Given the description of an element on the screen output the (x, y) to click on. 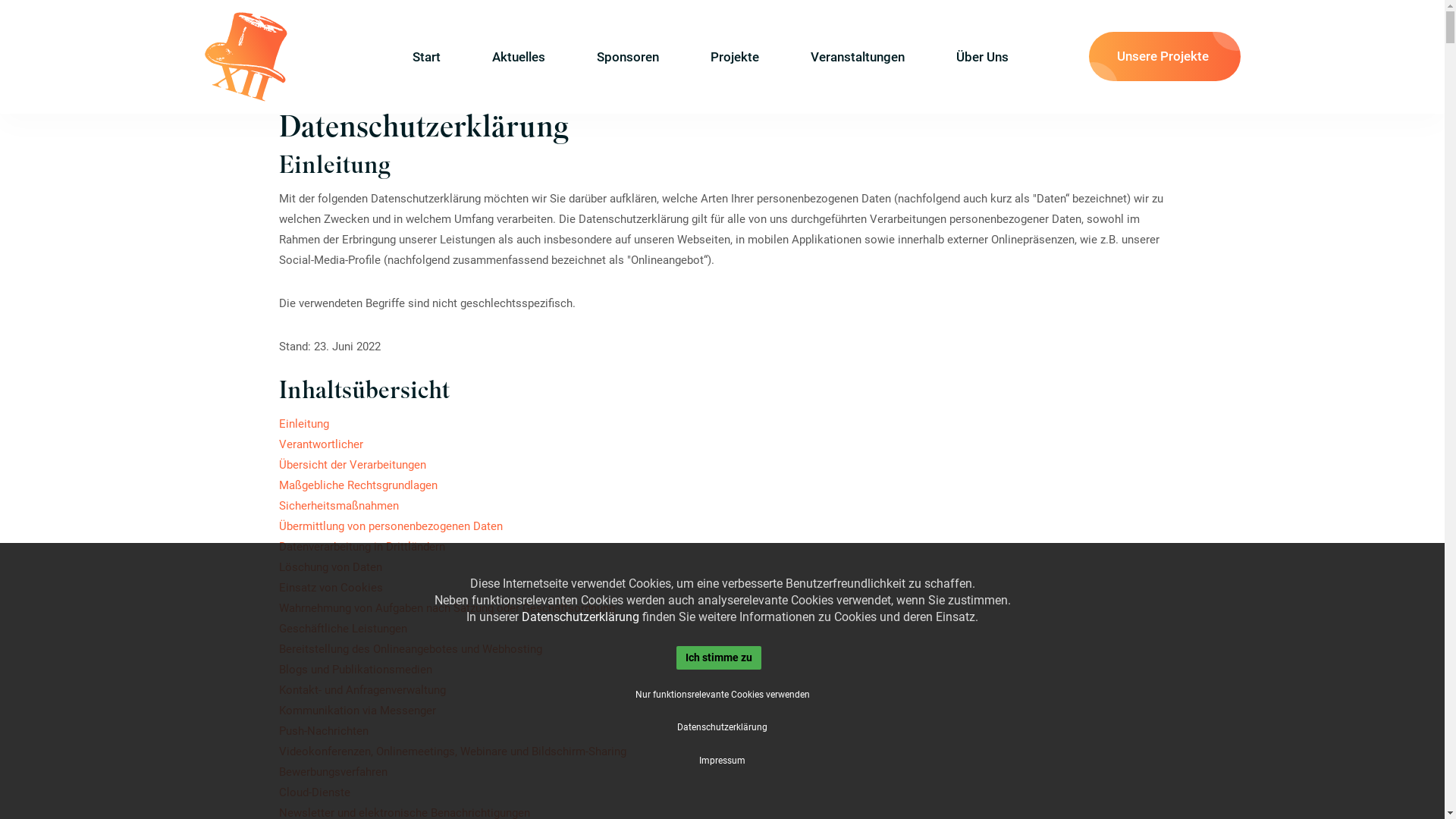
Ich stimme zu Element type: text (718, 657)
Push-Nachrichten Element type: text (323, 730)
Start Element type: text (439, 56)
Verantwortlicher Element type: text (321, 444)
Sponsoren Element type: text (627, 56)
Blogs und Publikationsmedien Element type: text (355, 669)
Kommunikation via Messenger Element type: text (357, 710)
Einleitung Element type: text (304, 423)
Projekte Element type: text (734, 56)
Kontakt- und Anfragenverwaltung Element type: text (362, 689)
Einsatz von Cookies Element type: text (330, 587)
Nur funktionsrelevante Cookies verwenden Element type: text (722, 694)
Bereitstellung des Onlineangebotes und Webhosting Element type: text (410, 648)
Unsere Projekte Element type: text (1164, 56)
Impressum Element type: text (722, 760)
Bewerbungsverfahren Element type: text (333, 771)
Aktuelles Element type: text (518, 56)
Cloud-Dienste Element type: text (314, 792)
Veranstaltungen Element type: text (857, 56)
